Given the description of an element on the screen output the (x, y) to click on. 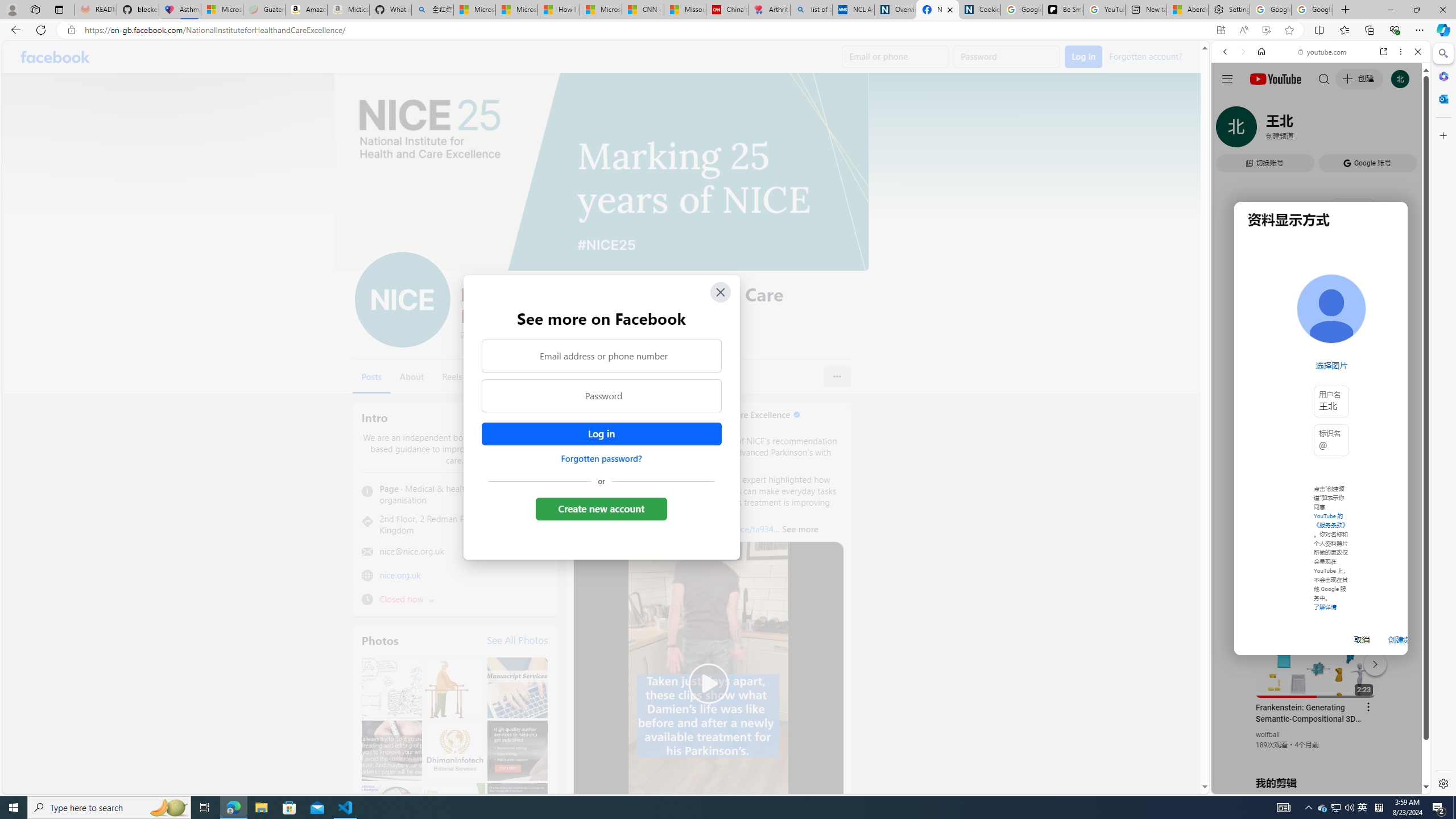
wolfball (1268, 734)
Enhance video (1266, 29)
